Given the description of an element on the screen output the (x, y) to click on. 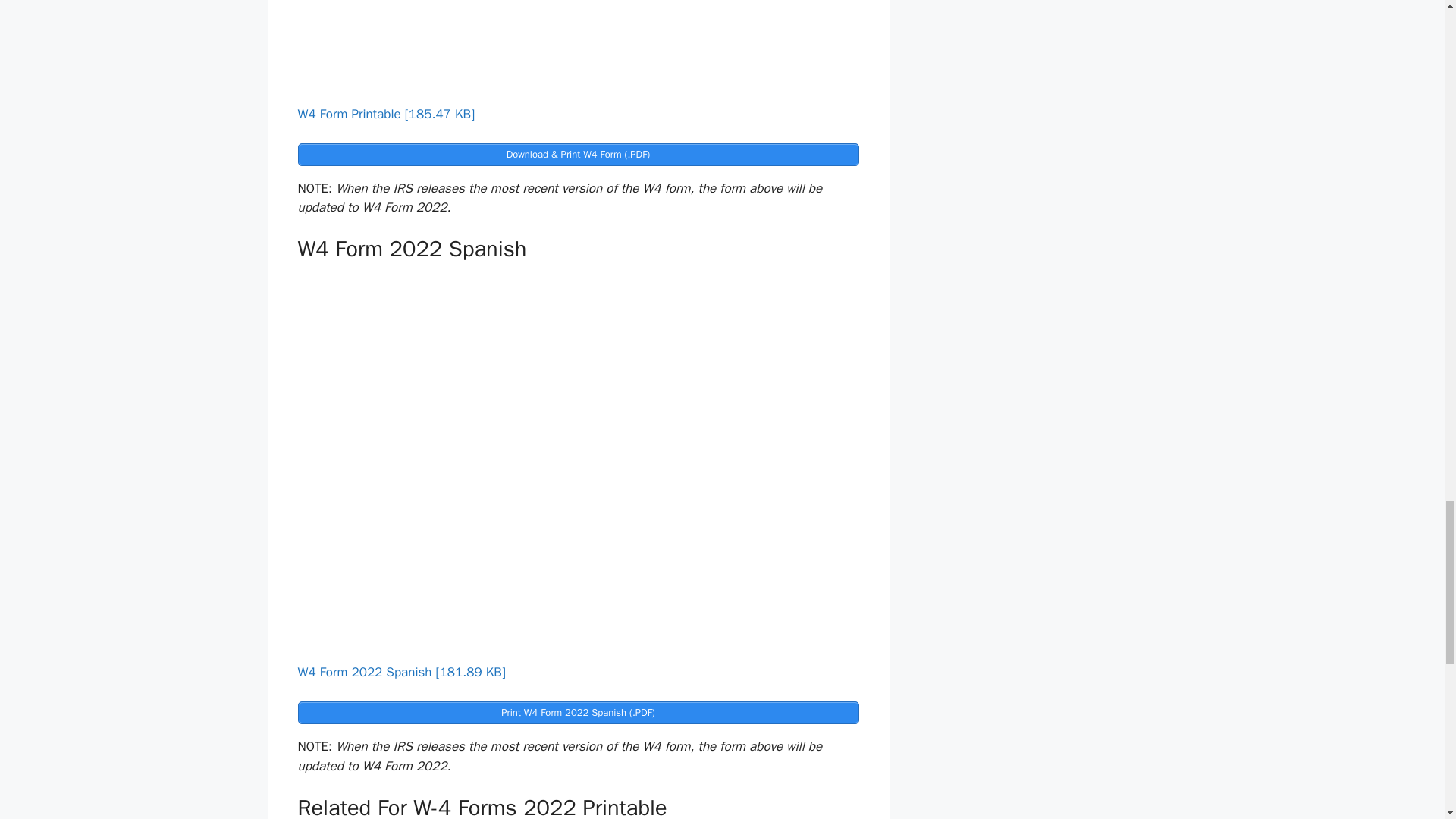
Embedded Document (578, 49)
